Given the description of an element on the screen output the (x, y) to click on. 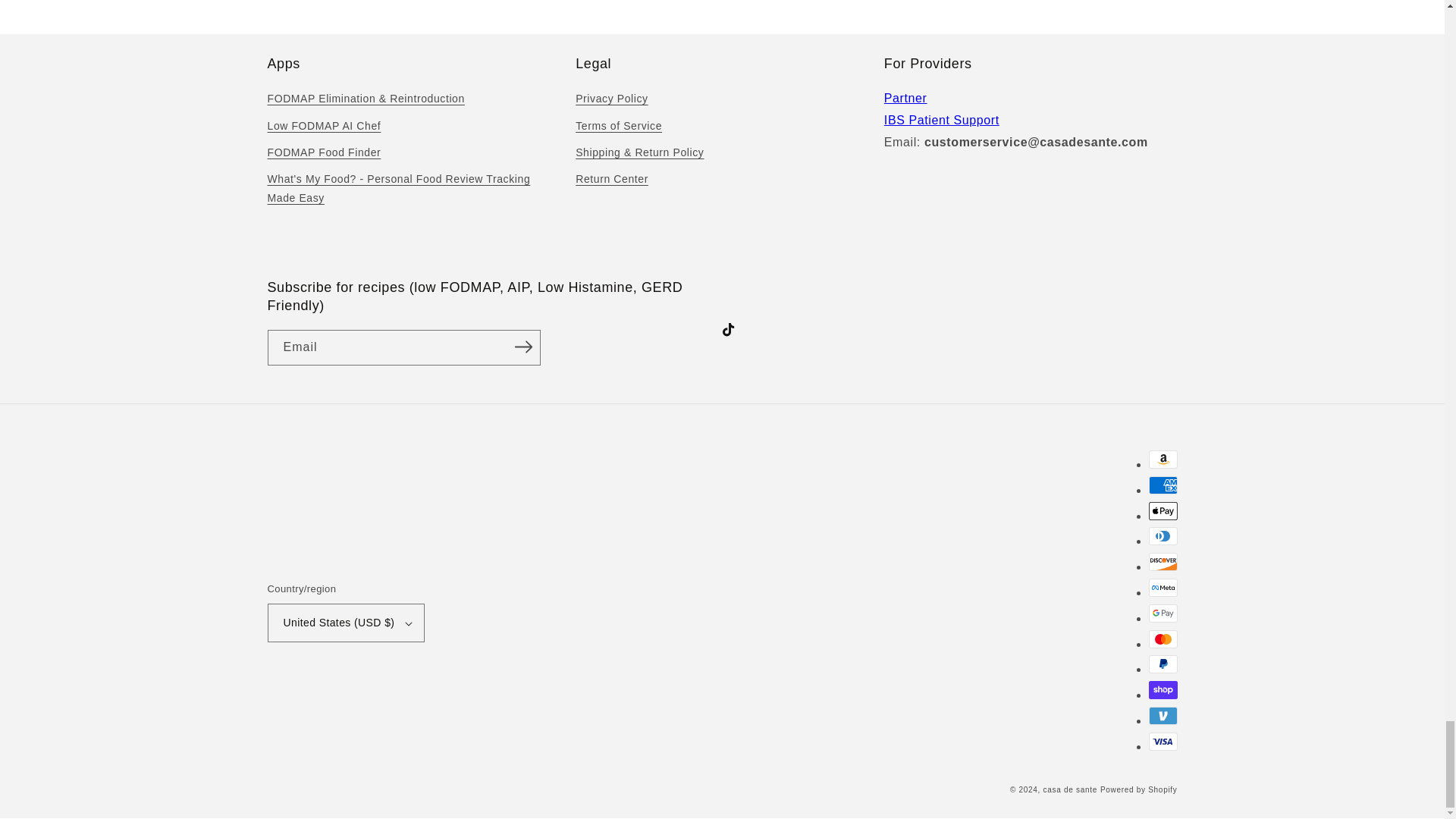
American Express (1162, 484)
IBS Support (940, 119)
Amazon (1162, 459)
